Given the description of an element on the screen output the (x, y) to click on. 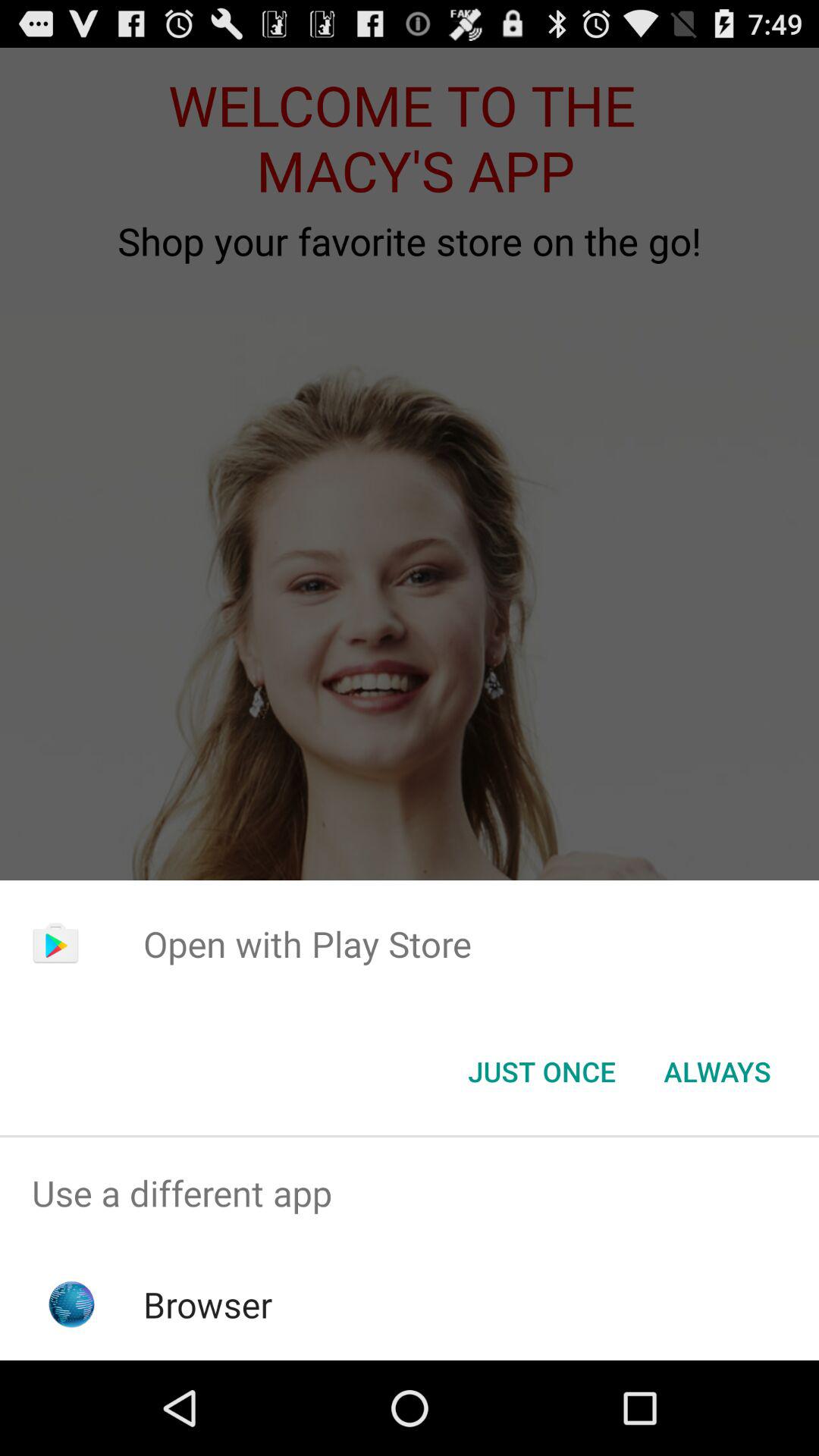
click the app below use a different icon (207, 1304)
